Given the description of an element on the screen output the (x, y) to click on. 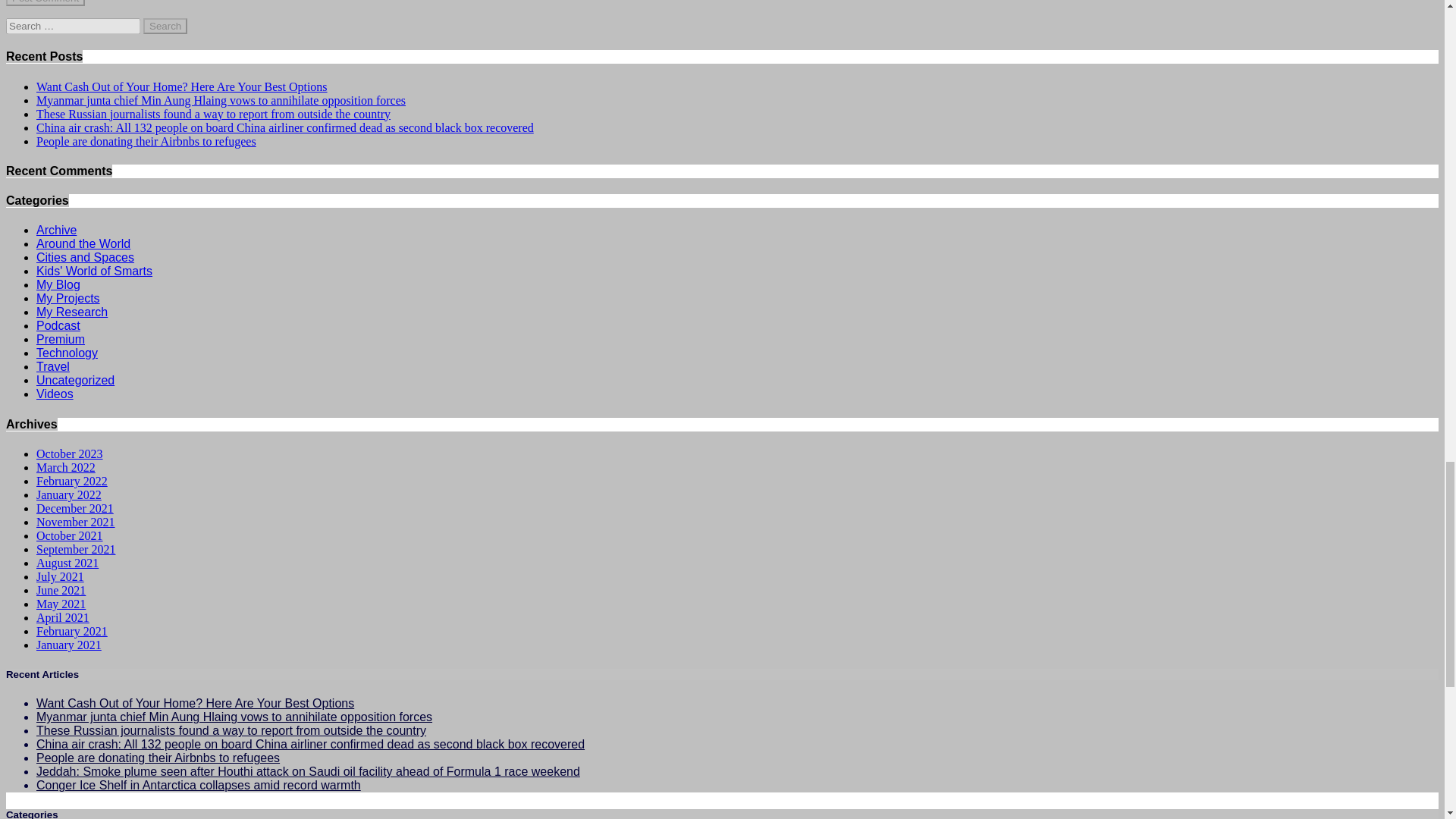
Post Comment (44, 2)
Search (164, 26)
Search (164, 26)
